Given the description of an element on the screen output the (x, y) to click on. 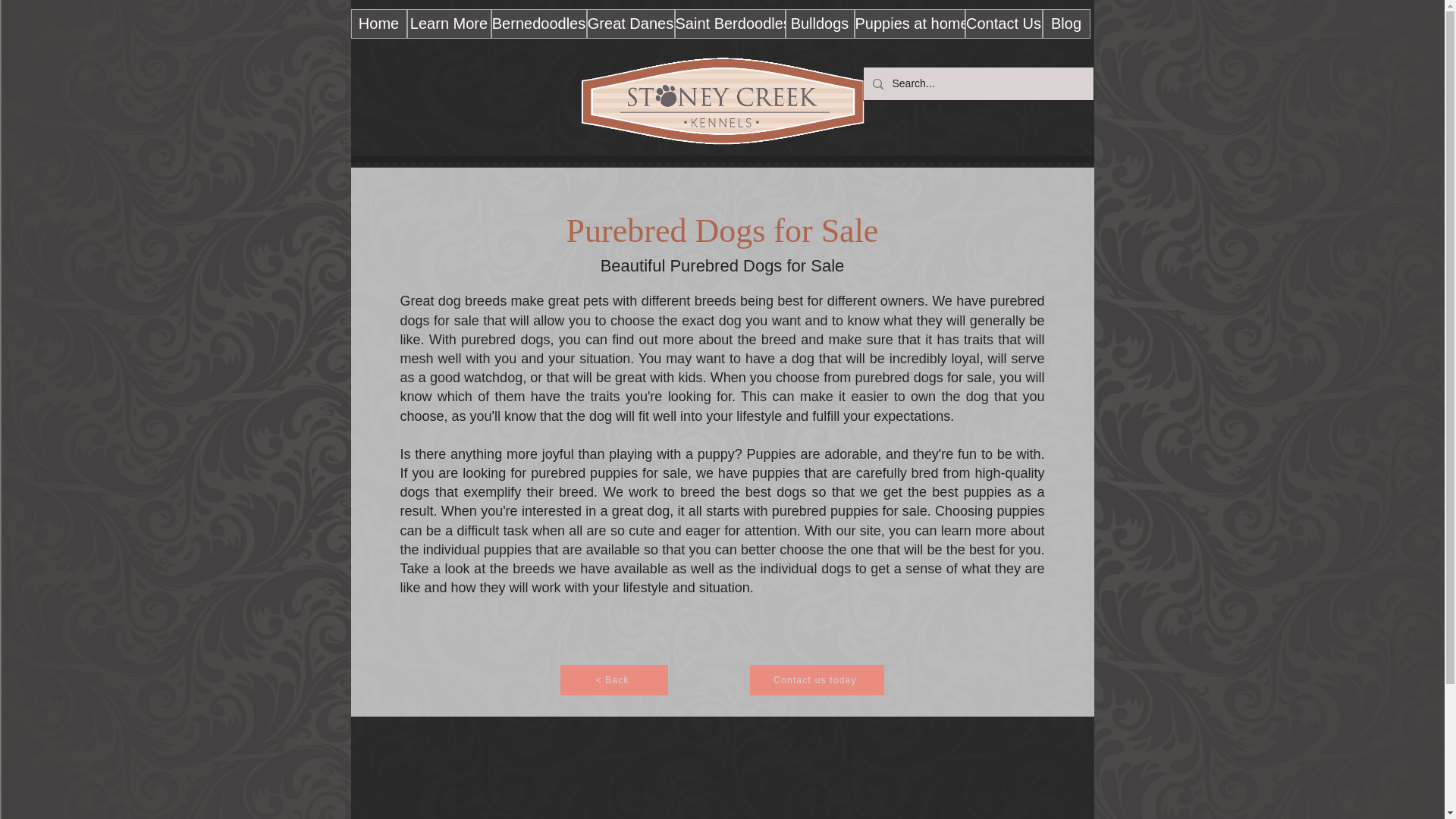
Saint Berdoodles (730, 23)
Contact us today (816, 680)
Home (378, 23)
Contact Us (1002, 23)
Great Danes (630, 23)
Puppies at home (908, 23)
Stoney Creek Kennels (721, 100)
Bulldogs (820, 23)
Bernedoodles (539, 23)
Blog (1065, 23)
